Given the description of an element on the screen output the (x, y) to click on. 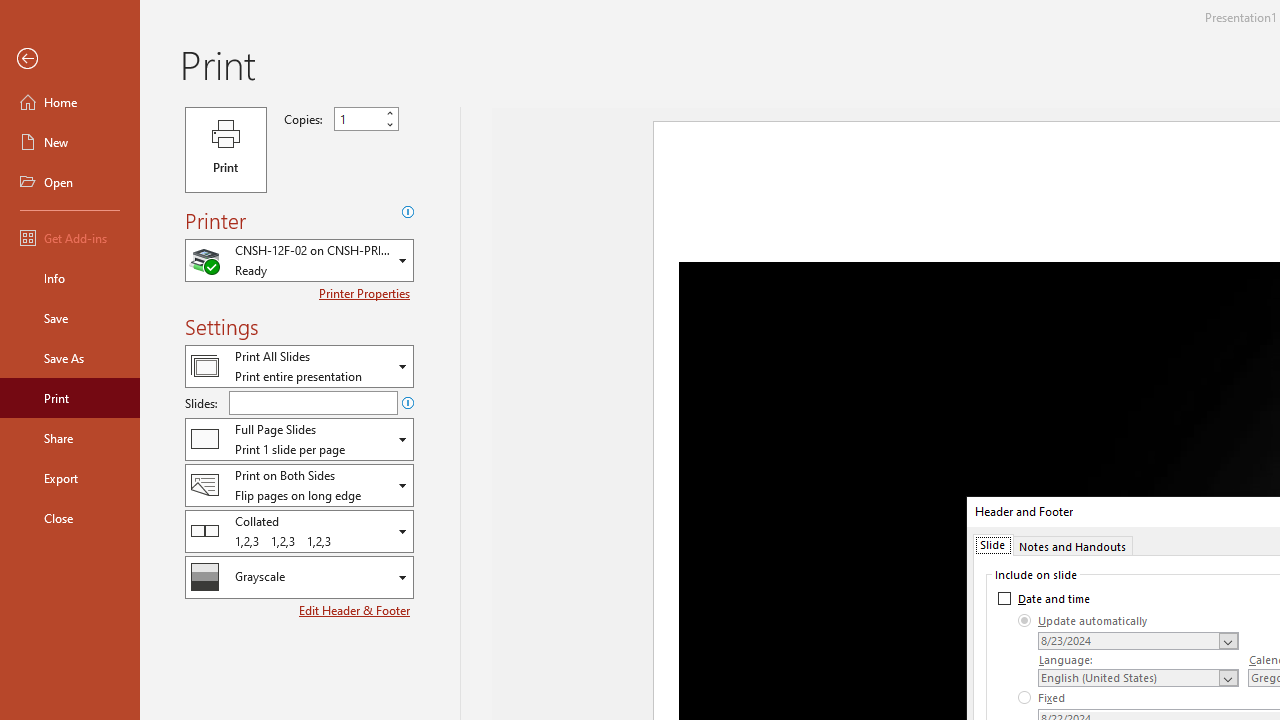
Printer Properties (365, 293)
More (389, 113)
Color/Grayscale (299, 577)
Language (1138, 677)
